Given the description of an element on the screen output the (x, y) to click on. 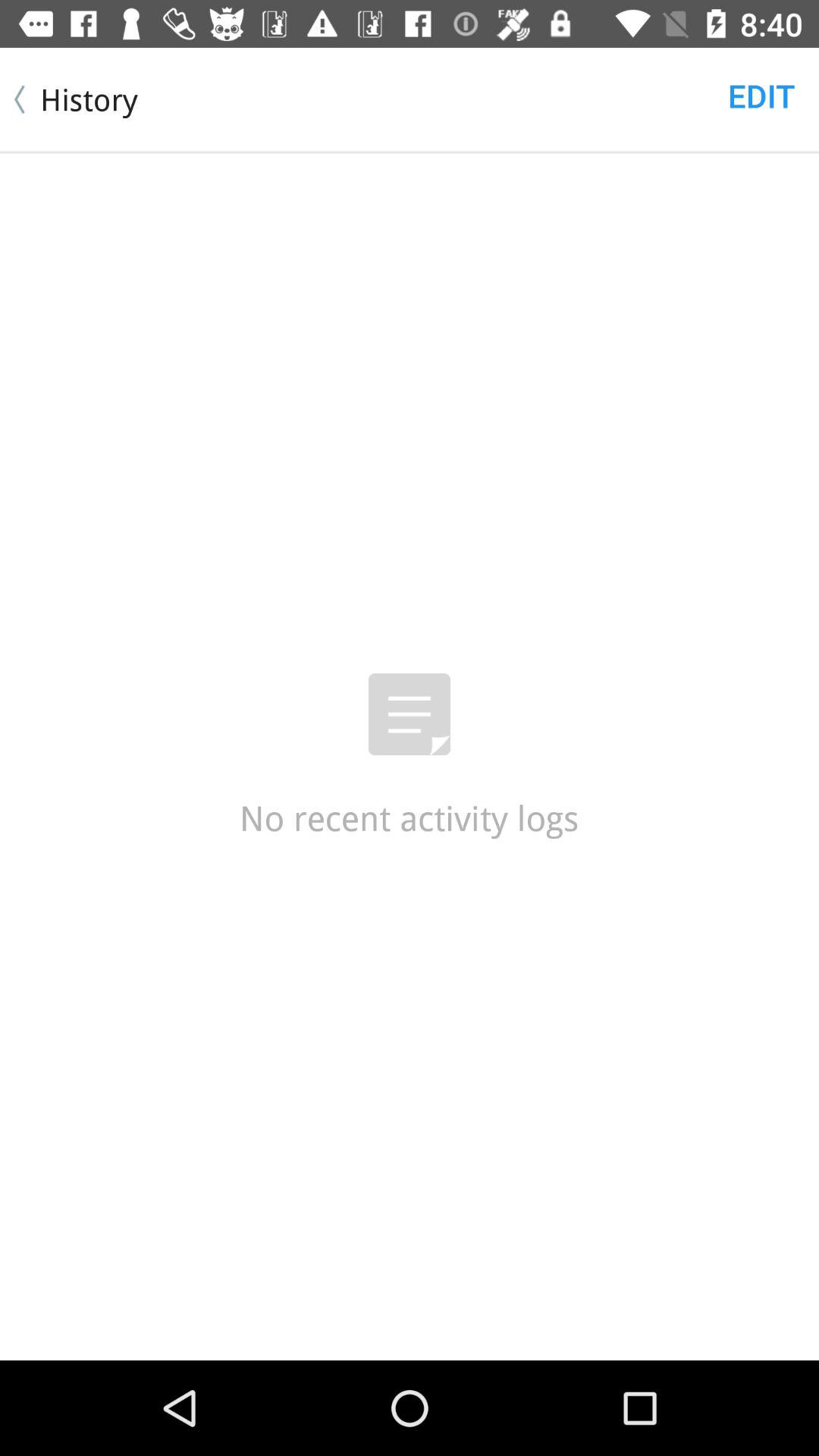
press the edit (761, 95)
